Given the description of an element on the screen output the (x, y) to click on. 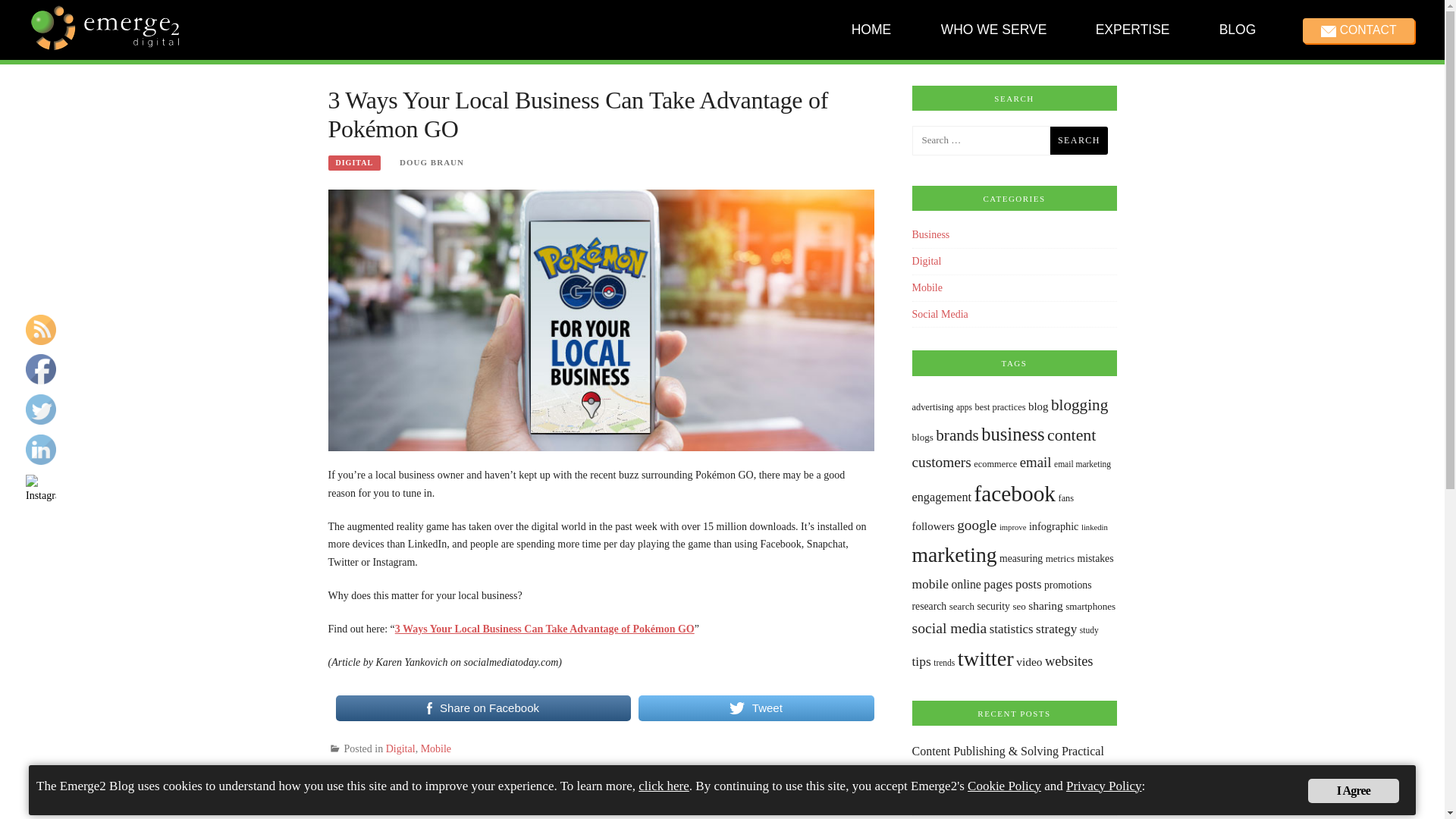
games (432, 775)
advertising (932, 407)
Search (1078, 139)
Digital (399, 748)
small business (507, 775)
WHO WE SERVE (993, 29)
EXPERTISE (1131, 29)
HOME (871, 29)
customers (941, 462)
EMERGE2 BLOG (138, 98)
